Given the description of an element on the screen output the (x, y) to click on. 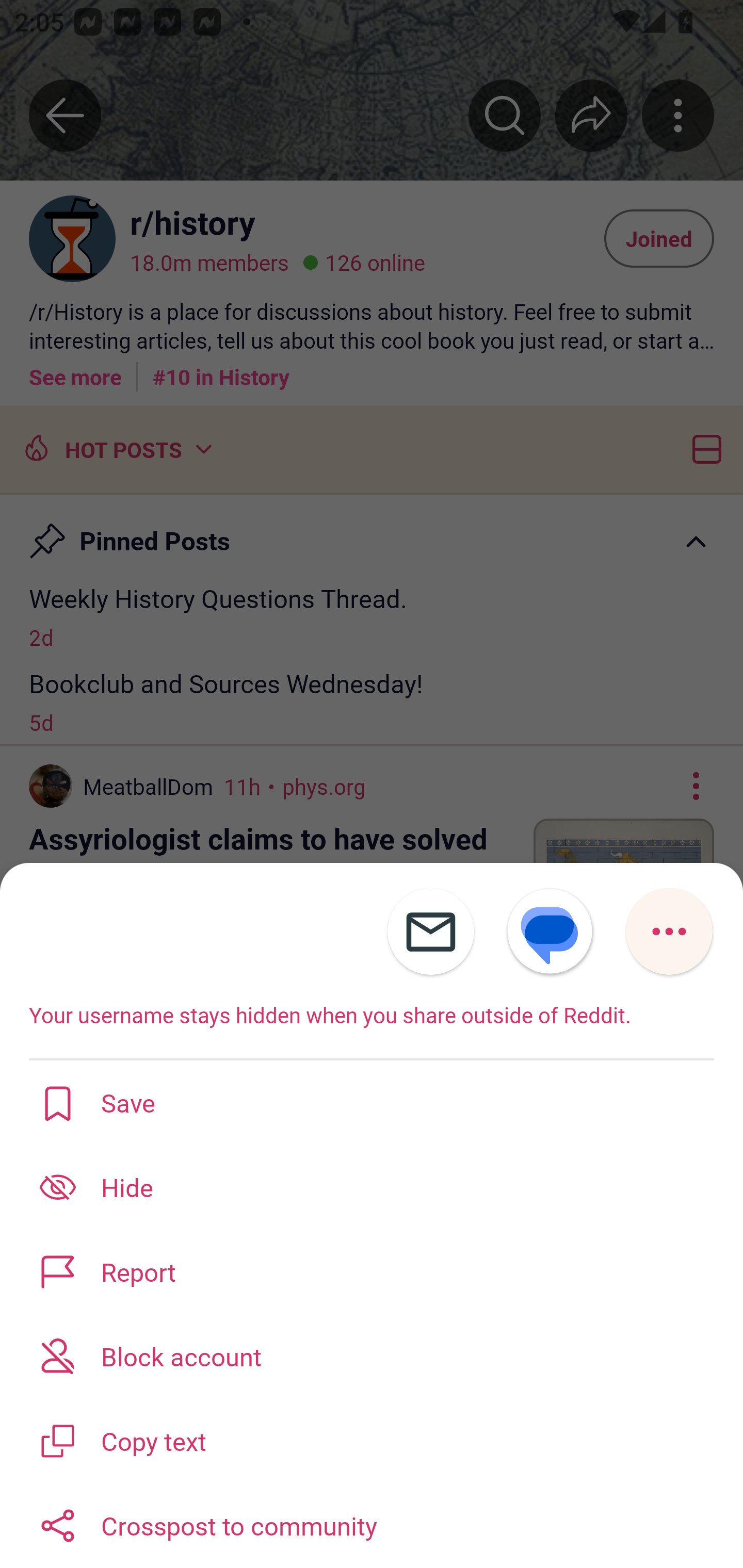
Email (430, 932)
SMS (549, 932)
More (668, 932)
Save (371, 1101)
Hide (371, 1186)
Report (371, 1271)
Block account (371, 1355)
Copy text (371, 1439)
Crosspost to community (371, 1524)
